Given the description of an element on the screen output the (x, y) to click on. 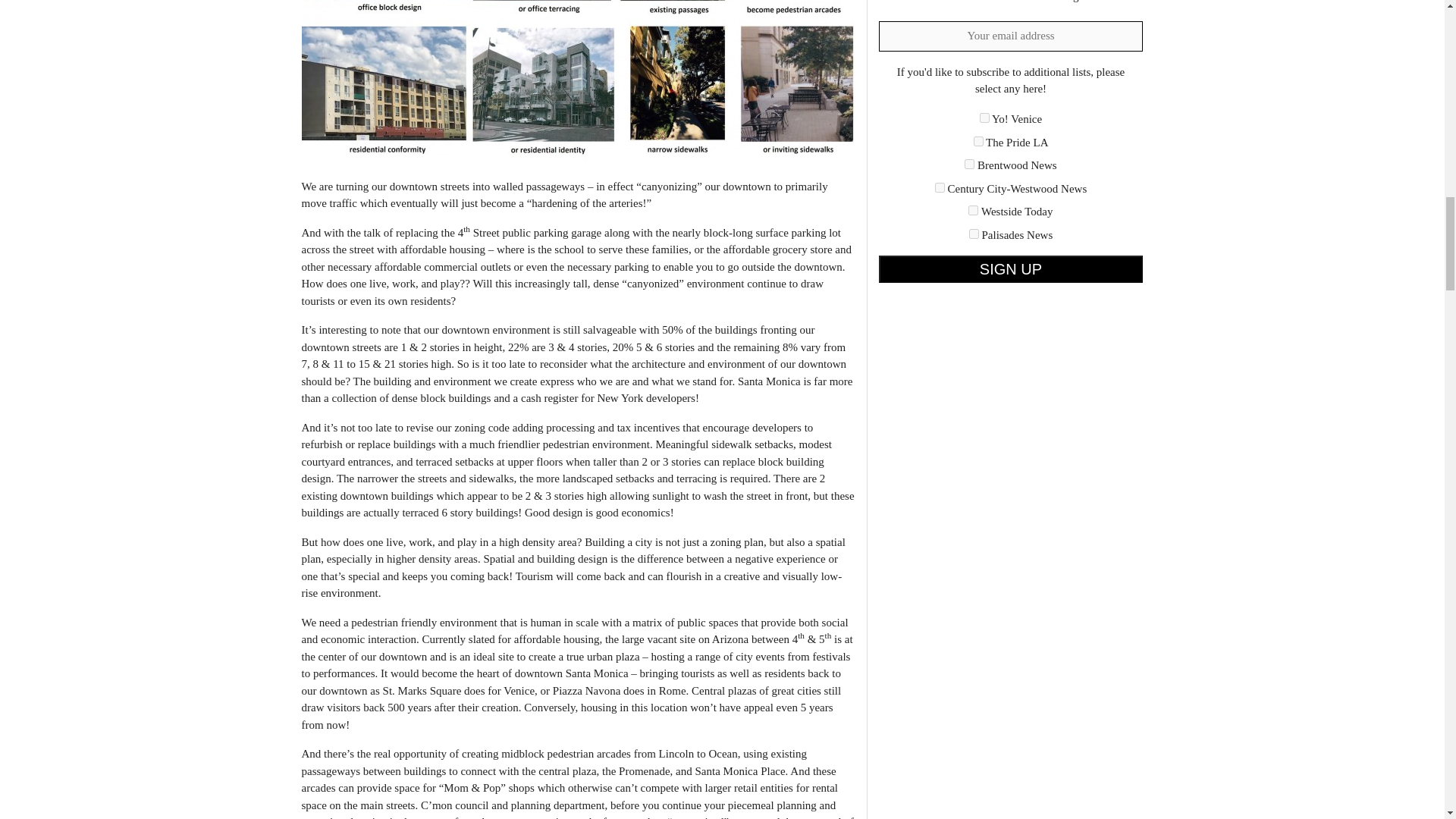
Sign up (1009, 268)
33f79e7e4d (979, 141)
2c616d28b5 (984, 117)
a3d1b6d535 (973, 210)
382281a661 (968, 163)
5fac618226 (939, 187)
ec7d882848 (973, 234)
